Given the description of an element on the screen output the (x, y) to click on. 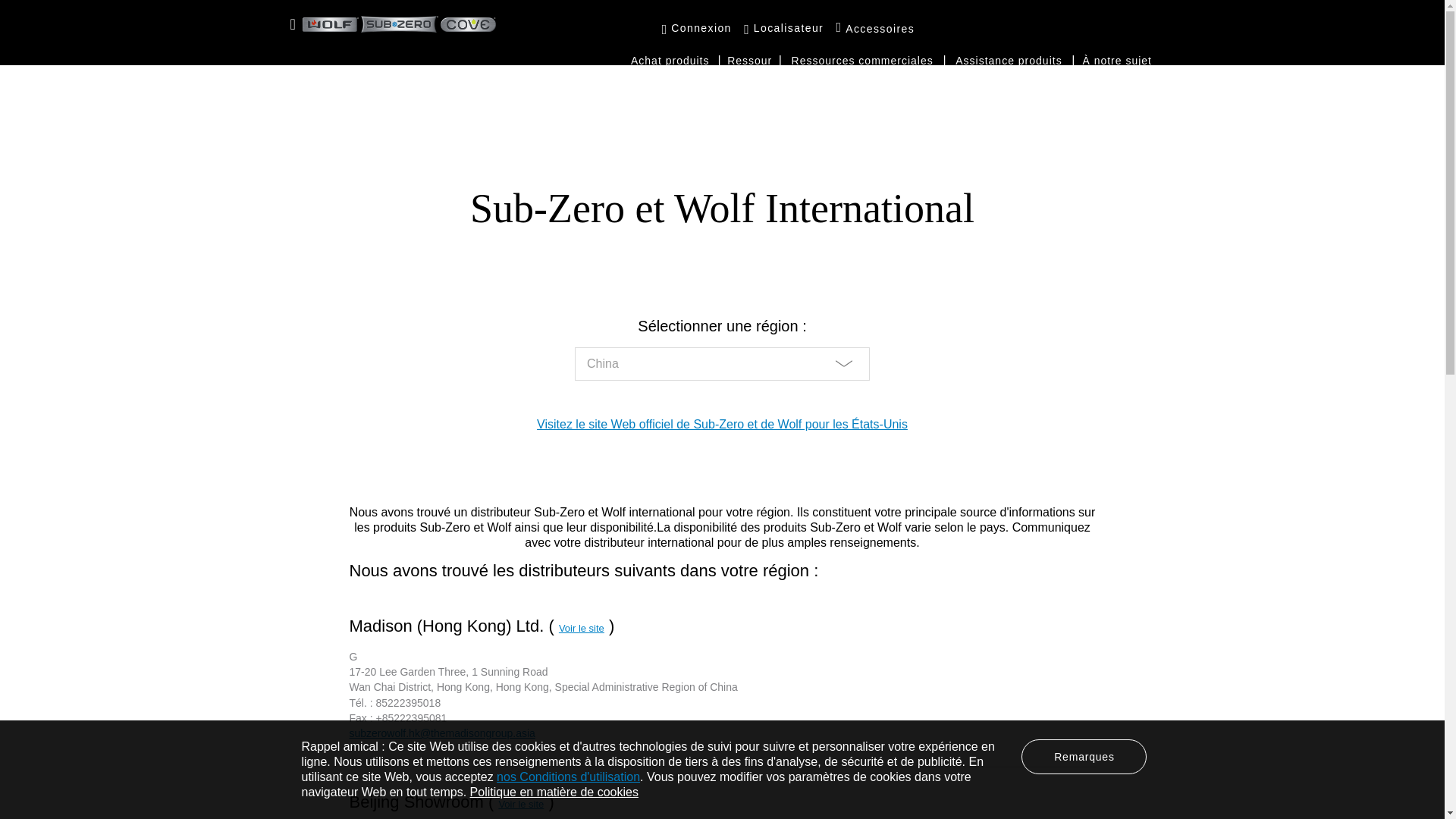
Connexion (697, 28)
nos Conditions d'utilisation (568, 776)
Accessoires (874, 28)
Achat produits (670, 60)
Localisateur (784, 28)
Remarques (1084, 756)
